Given the description of an element on the screen output the (x, y) to click on. 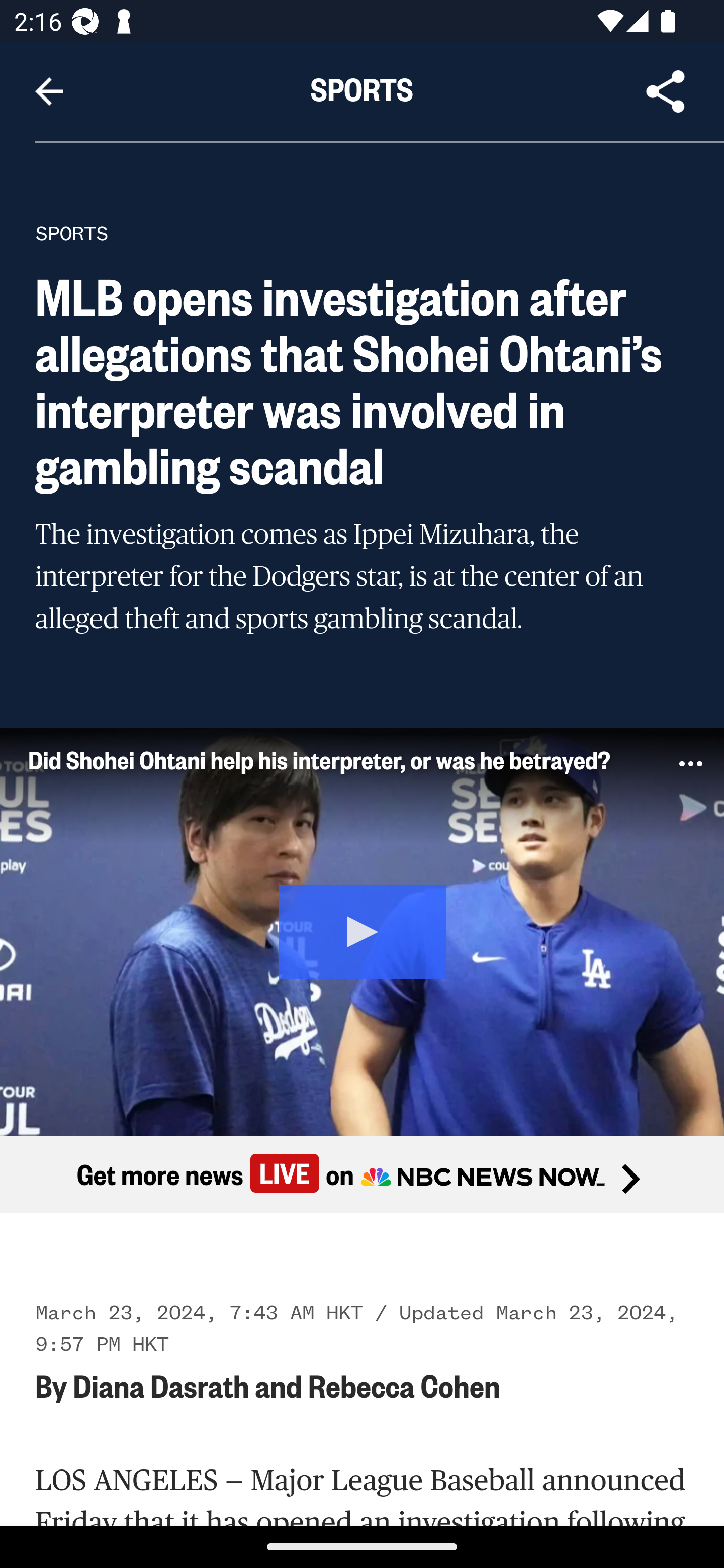
Navigate up (49, 91)
Share Article, button (665, 91)
Play (362, 930)
Play (362, 929)
Get more news Live on Get more news Live on (362, 1173)
Diana Dasrath (160, 1384)
Rebecca Cohen (403, 1384)
